Given the description of an element on the screen output the (x, y) to click on. 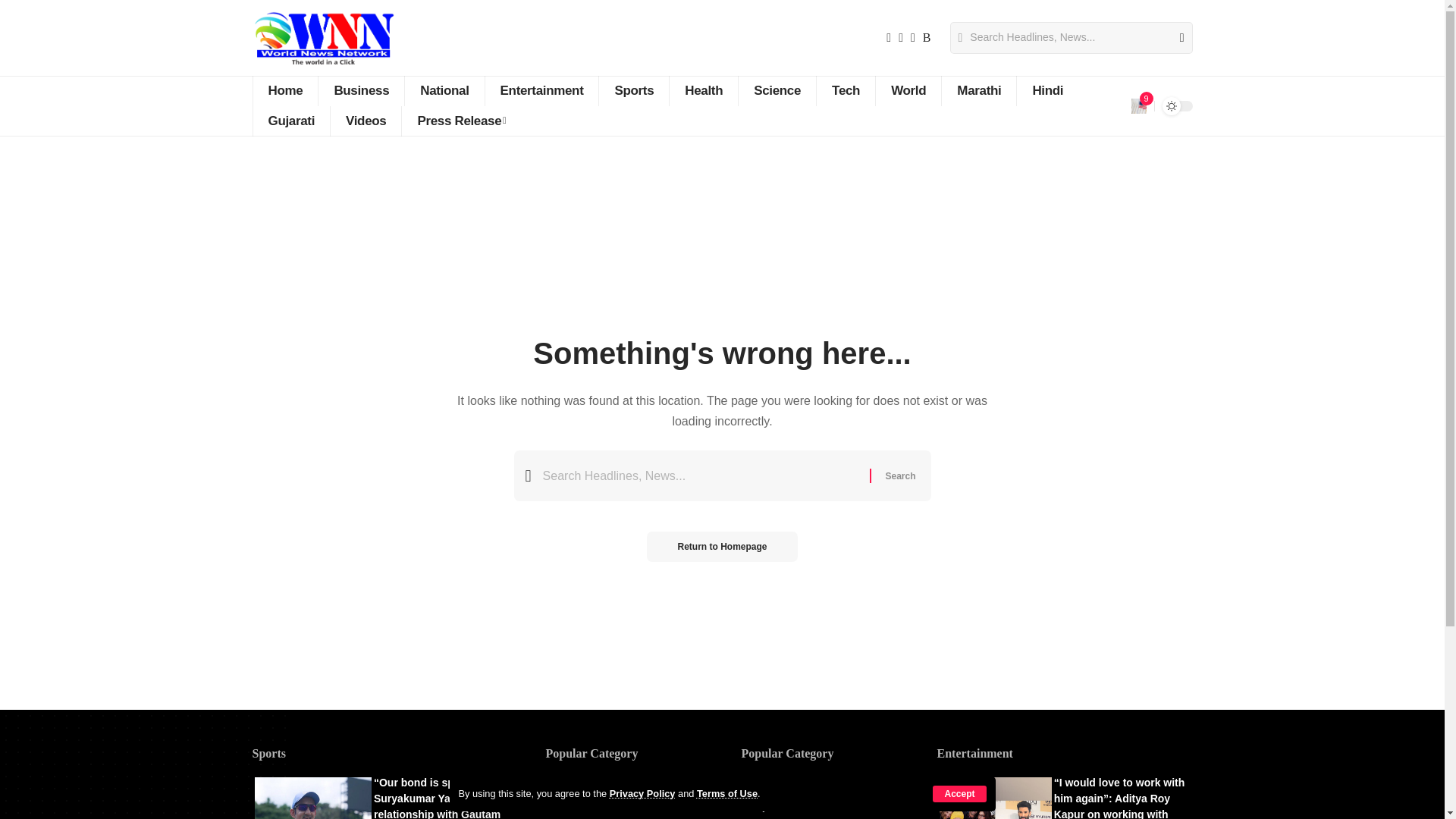
Entertainment (541, 91)
World (907, 91)
Privacy Policy (642, 793)
Accept (959, 793)
National (443, 91)
Science (776, 91)
Home (284, 91)
Search (1175, 37)
Health (703, 91)
Gujarati (290, 121)
Videos (365, 121)
Latest World News Update (322, 37)
Hindi (1047, 91)
Tech (845, 91)
Business (360, 91)
